Given the description of an element on the screen output the (x, y) to click on. 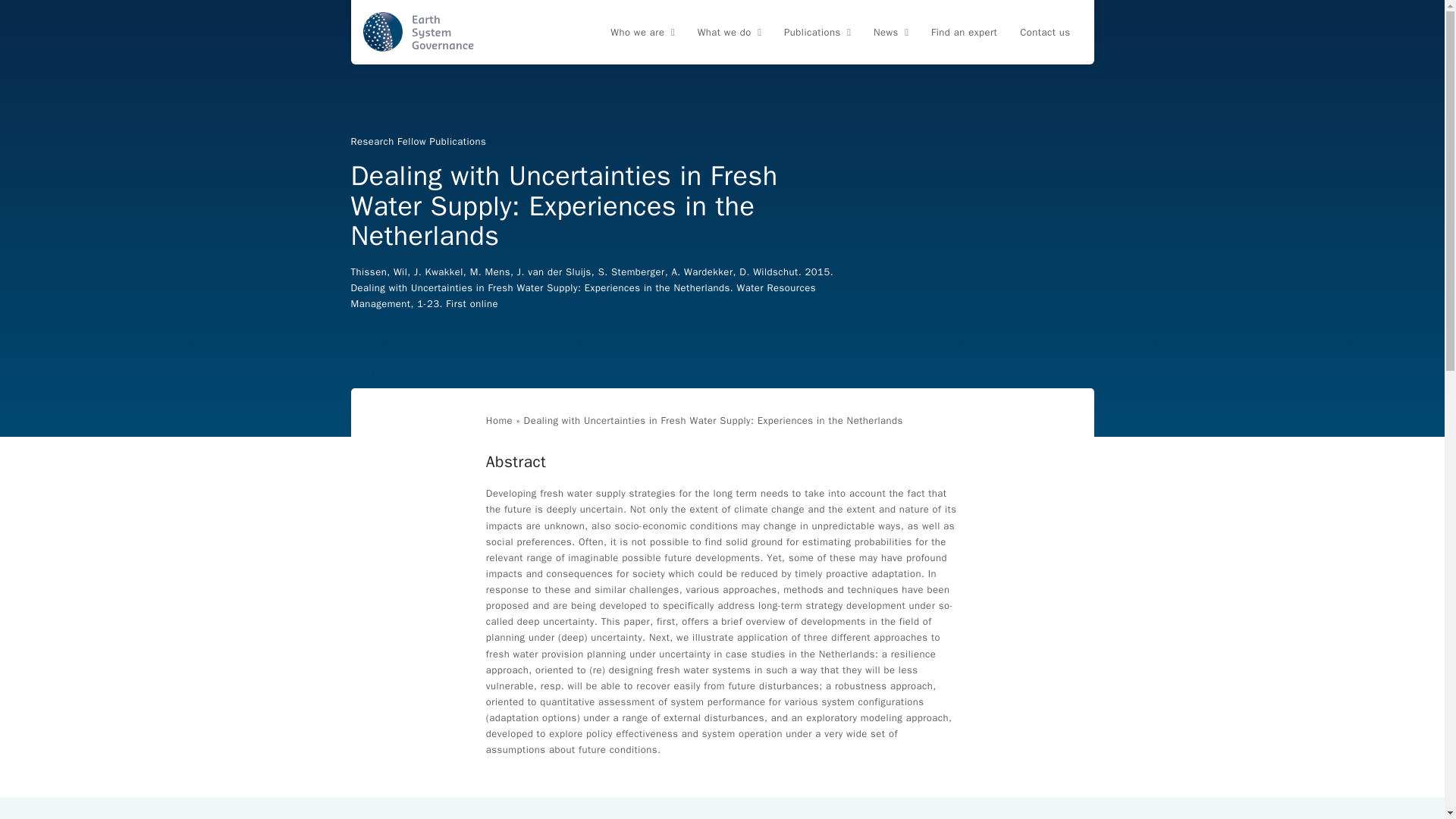
Publications (817, 32)
News (890, 32)
Contact us (1045, 32)
Research Fellow Publications (418, 141)
Home (499, 420)
Find an expert (964, 32)
What we do (729, 32)
Who we are (641, 32)
